Given the description of an element on the screen output the (x, y) to click on. 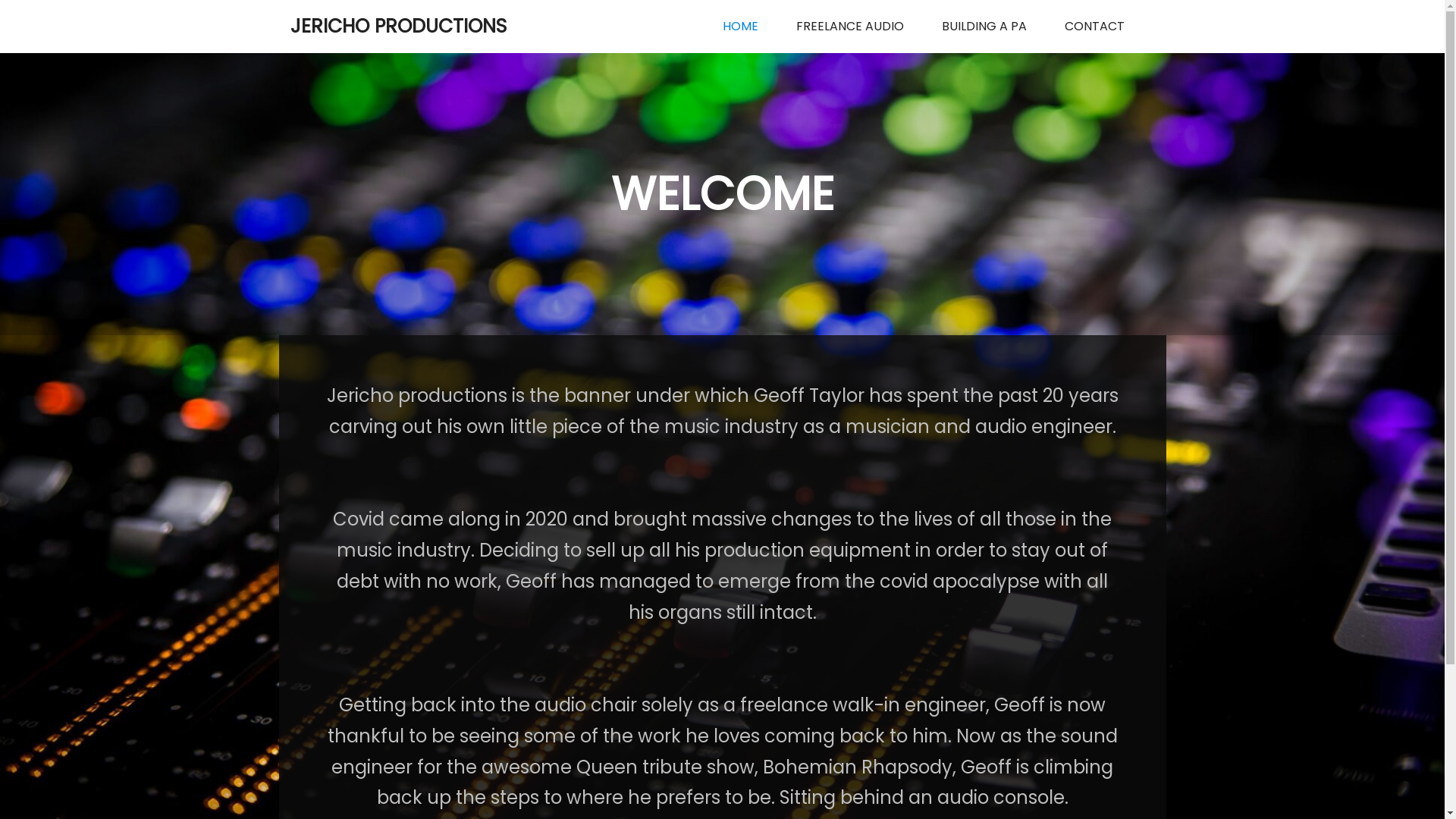
FREELANCE AUDIO Element type: text (849, 26)
CONTACT Element type: text (1093, 26)
JERICHO PRODUCTIONS Element type: text (365, 26)
BUILDING A PA Element type: text (983, 26)
HOME Element type: text (740, 26)
